Given the description of an element on the screen output the (x, y) to click on. 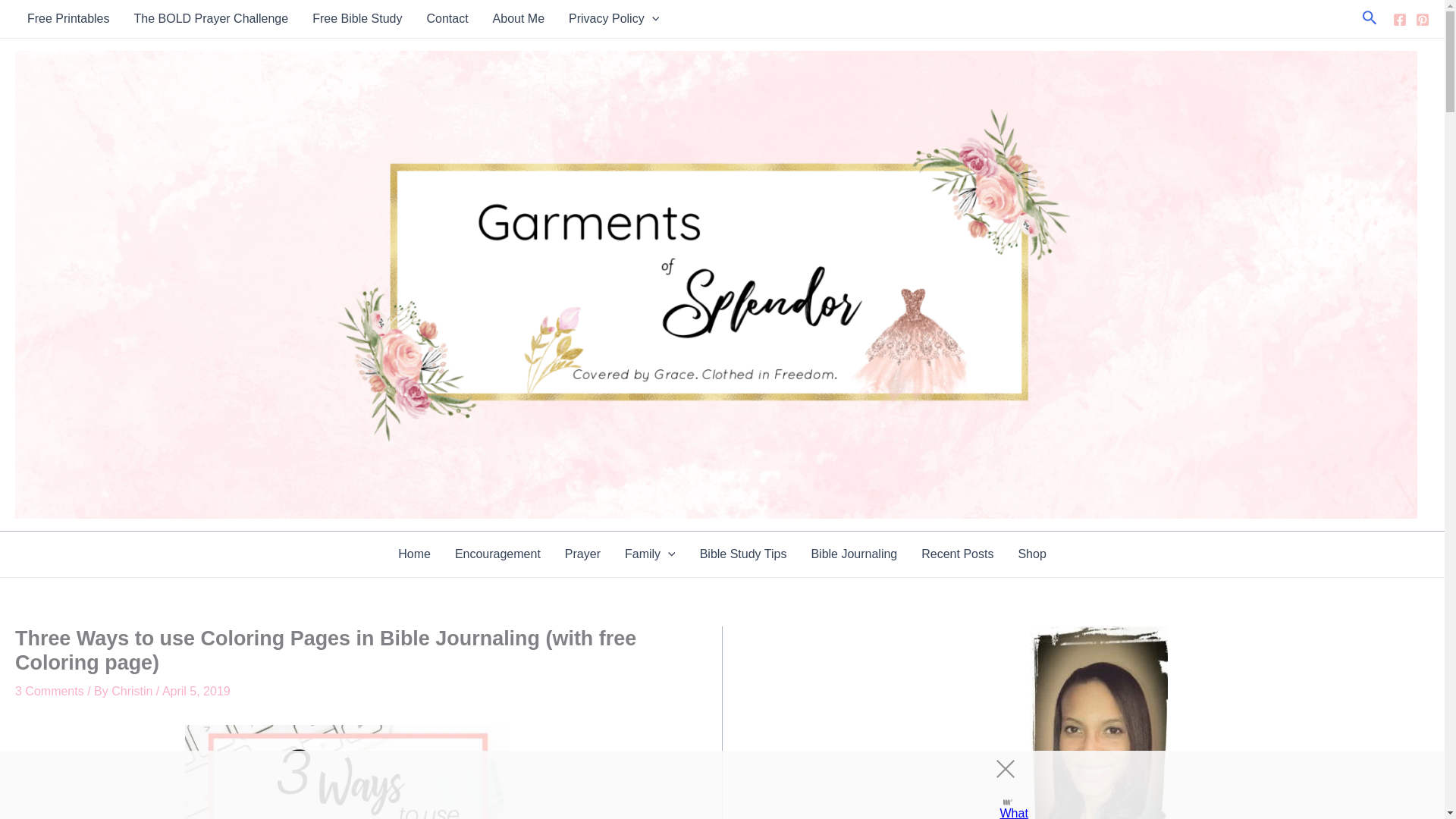
View all posts by Christin (133, 690)
The BOLD Prayer Challenge (209, 18)
Free Bible Study (356, 18)
Home (413, 554)
Bible Journaling (852, 554)
Contact (446, 18)
Bible Study Tips (743, 554)
Prayer (582, 554)
3rd party ad content (708, 785)
Family (649, 554)
Recent Posts (957, 554)
Free Printables (68, 18)
Privacy Policy (613, 18)
Encouragement (497, 554)
Shop (1032, 554)
